Given the description of an element on the screen output the (x, y) to click on. 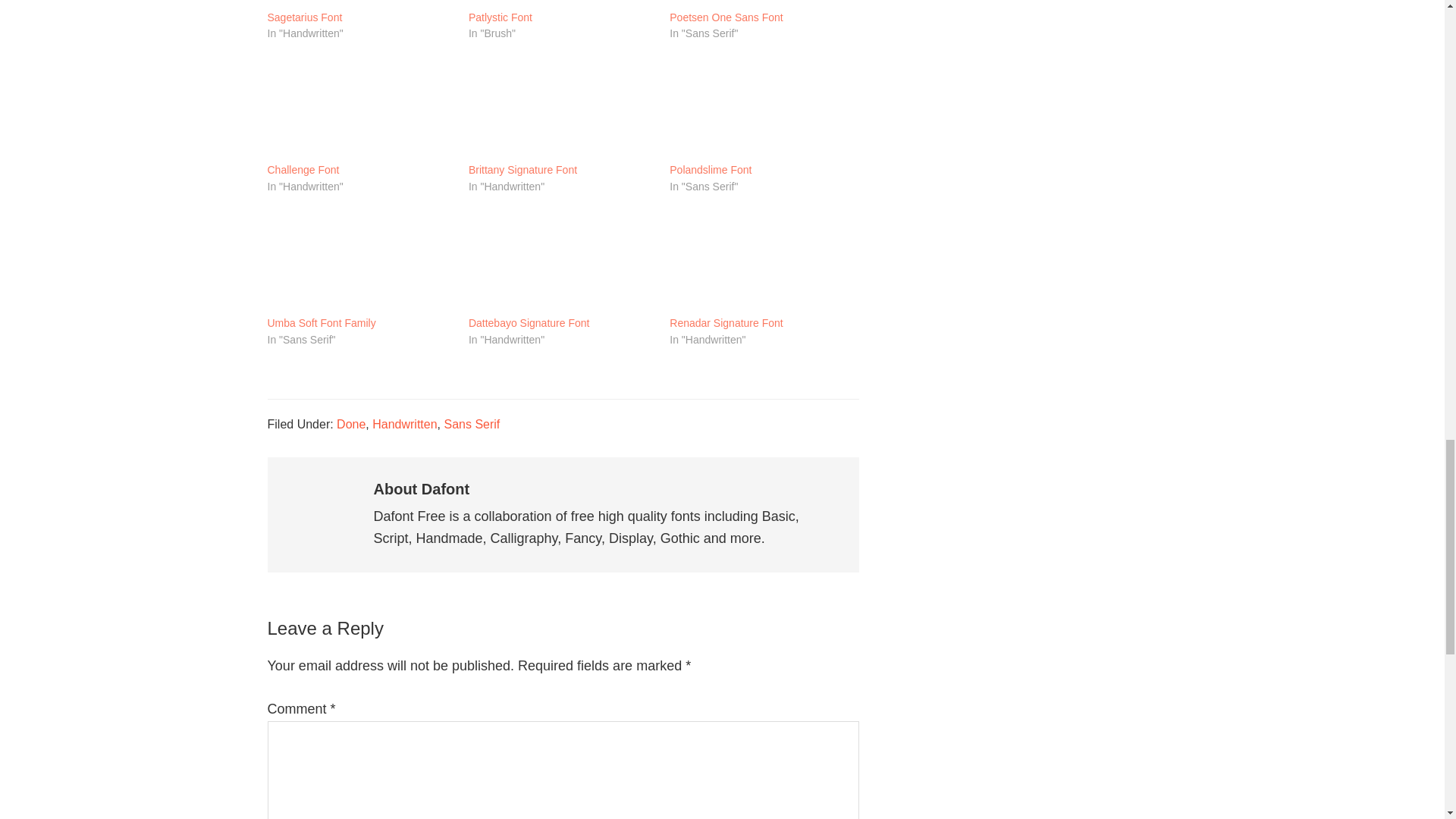
Renadar Signature Font (726, 323)
Patlystic Font (500, 18)
Dattebayo Signature Font (560, 261)
Handwritten (404, 423)
Challenge Font (302, 170)
Patlystic Font (560, 4)
Dattebayo Signature Font (528, 323)
Sagetarius Font (304, 18)
Sagetarius Font (359, 4)
Brittany Signature Font (522, 170)
Renadar Signature Font (762, 261)
Umba Soft Font Family (359, 261)
Umba Soft Font Family (320, 323)
Brittany Signature Font (560, 108)
Done (350, 423)
